Given the description of an element on the screen output the (x, y) to click on. 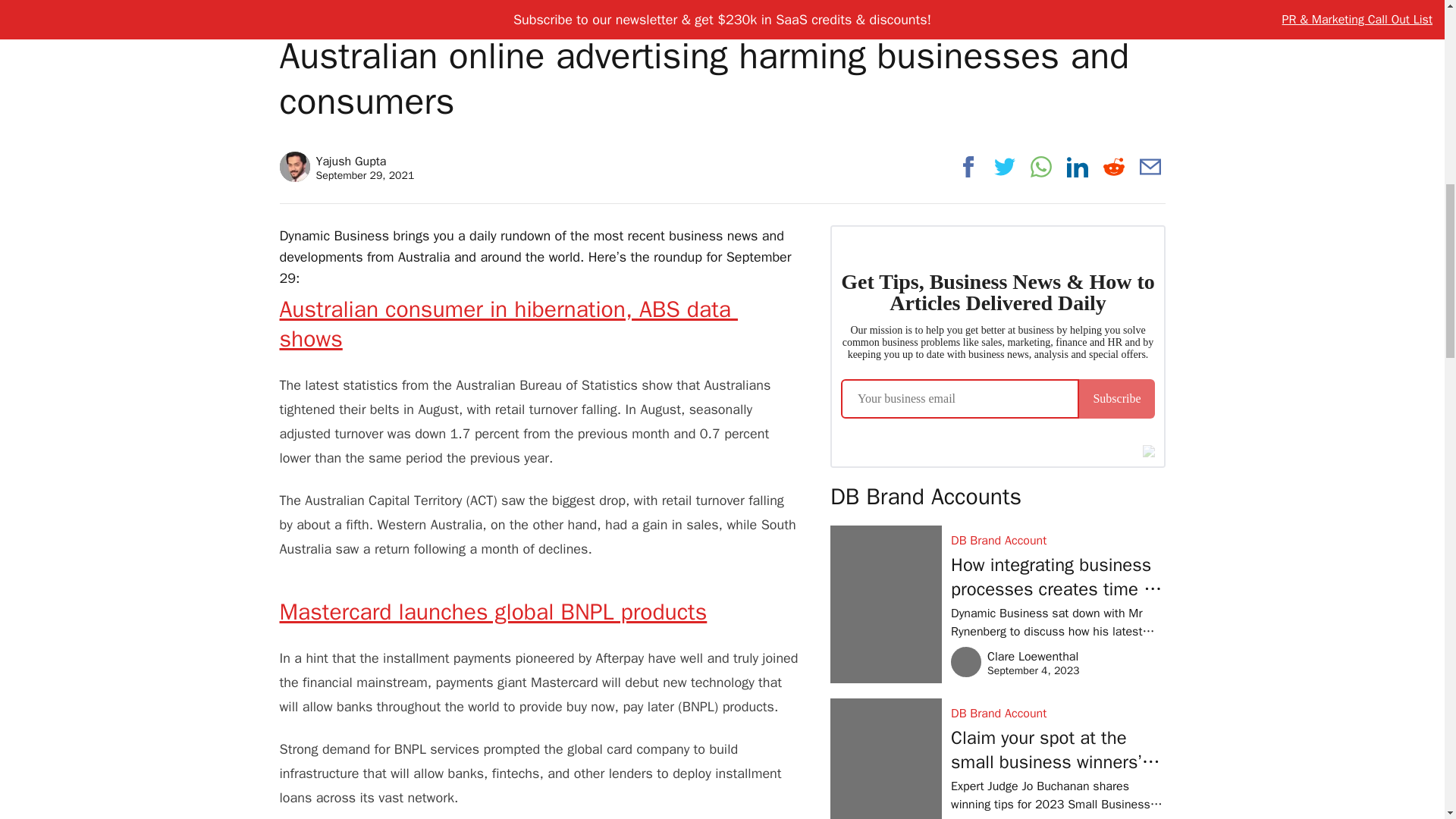
Australian consumer in hibernation, ABS data shows (507, 323)
Mastercard launches global BNPL products (492, 611)
